Given the description of an element on the screen output the (x, y) to click on. 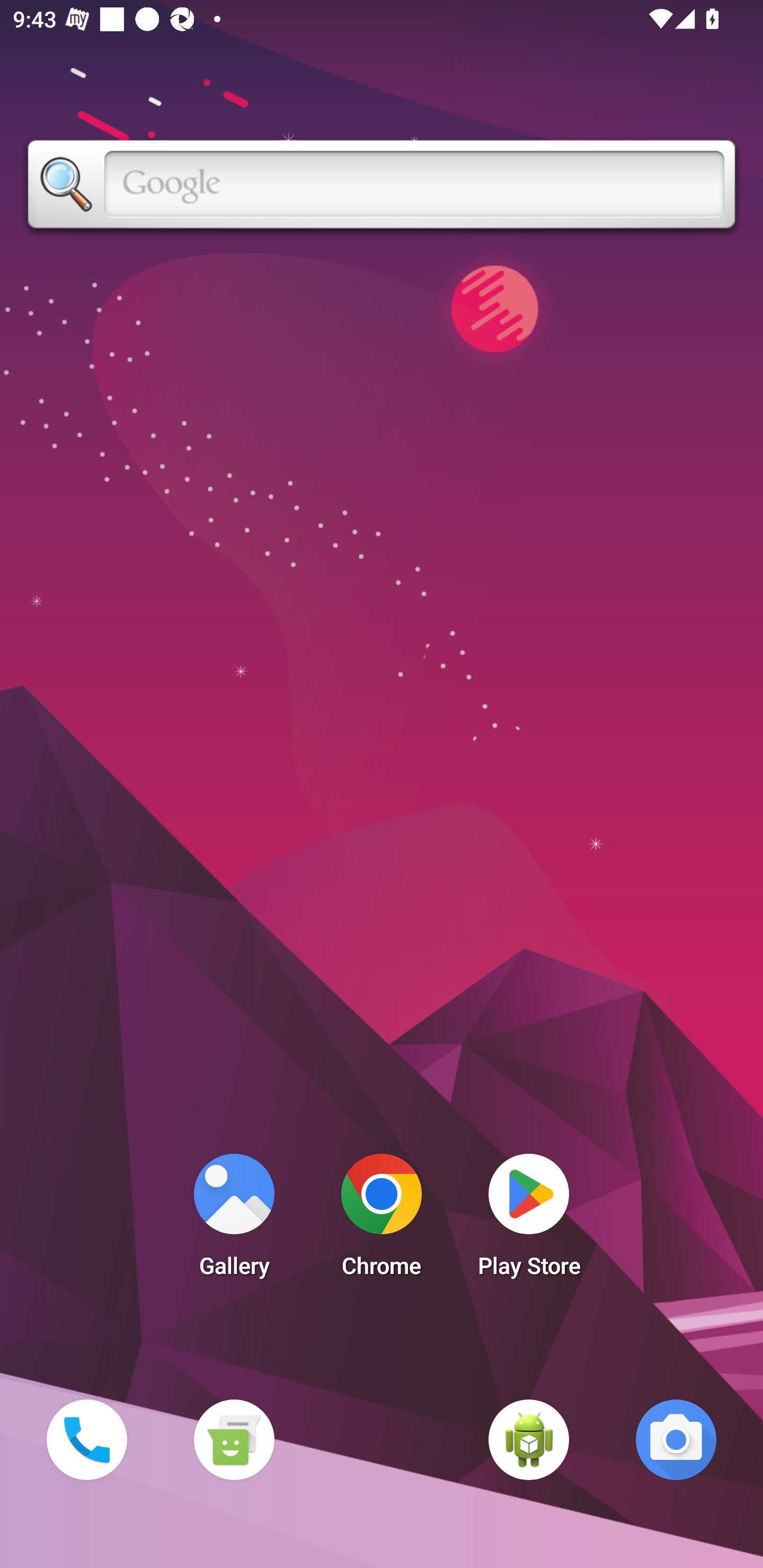
Gallery (233, 1220)
Chrome (381, 1220)
Play Store (528, 1220)
Phone (86, 1439)
Messaging (233, 1439)
WebView Browser Tester (528, 1439)
Camera (676, 1439)
